Given the description of an element on the screen output the (x, y) to click on. 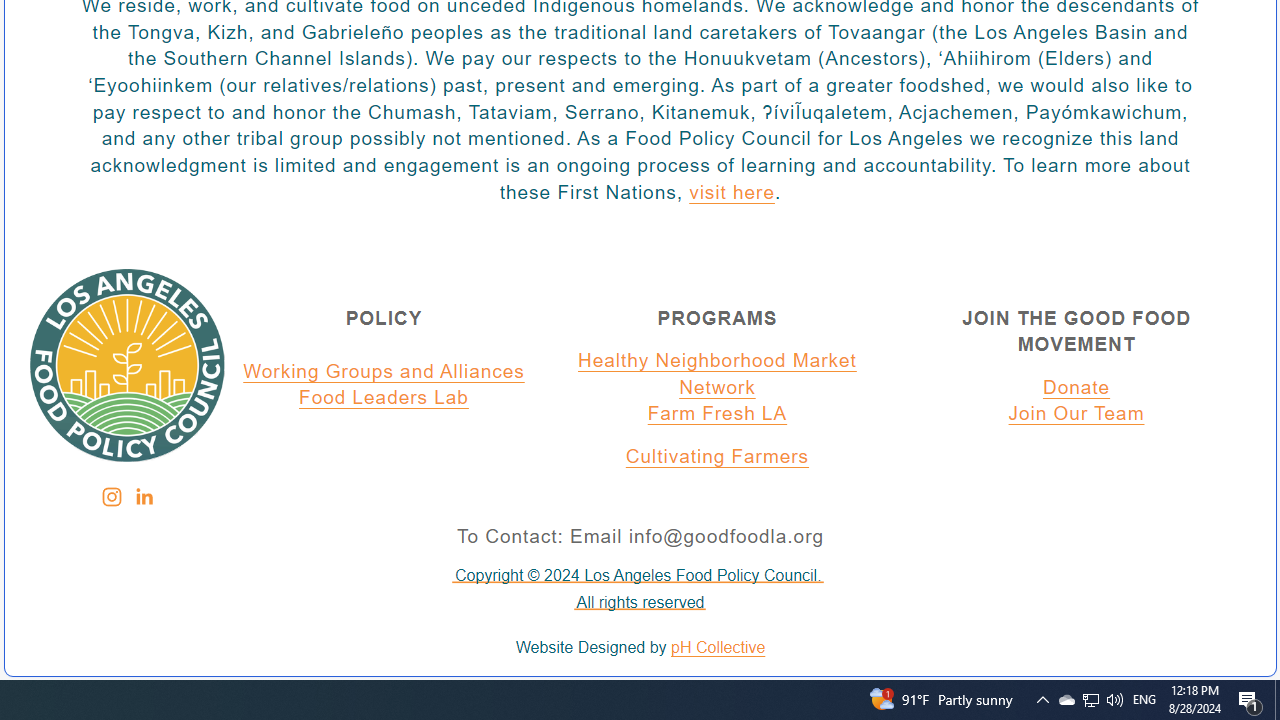
pH Collective (717, 647)
Farm Fresh LA (717, 415)
Healthy Neighborhood Market Network (717, 374)
Working Groups and Alliances (383, 371)
Cultivating Farmers  (717, 457)
Class: sqs-svg-icon--social (142, 496)
Instagram (111, 497)
Food Leaders Lab (383, 399)
visit here (731, 193)
Join Our Team (1076, 415)
Donate (1076, 387)
LinkedIn (143, 497)
